Given the description of an element on the screen output the (x, y) to click on. 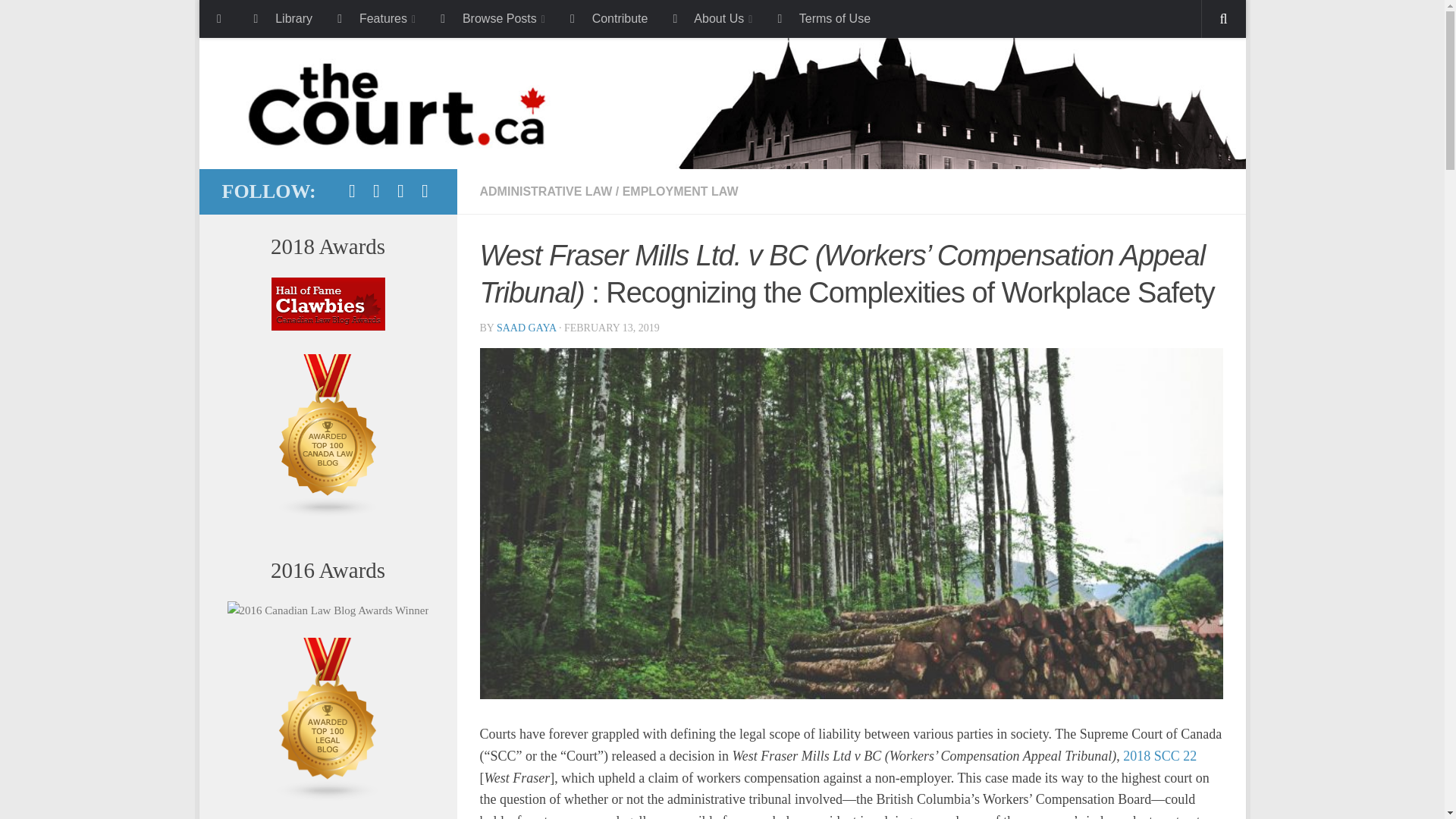
Legal blogs (327, 797)
Canada Law Blogs (327, 513)
    Terms of Use (821, 18)
    Library (280, 18)
Facebook (351, 190)
EMPLOYMENT LAW (680, 191)
    Browse Posts (491, 18)
ADMINISTRATIVE LAW (545, 191)
    About Us (710, 18)
    Features (374, 18)
SAAD GAYA (526, 327)
Twitter (375, 190)
    Contribute (607, 18)
Posts by Saad Gaya (526, 327)
